Given the description of an element on the screen output the (x, y) to click on. 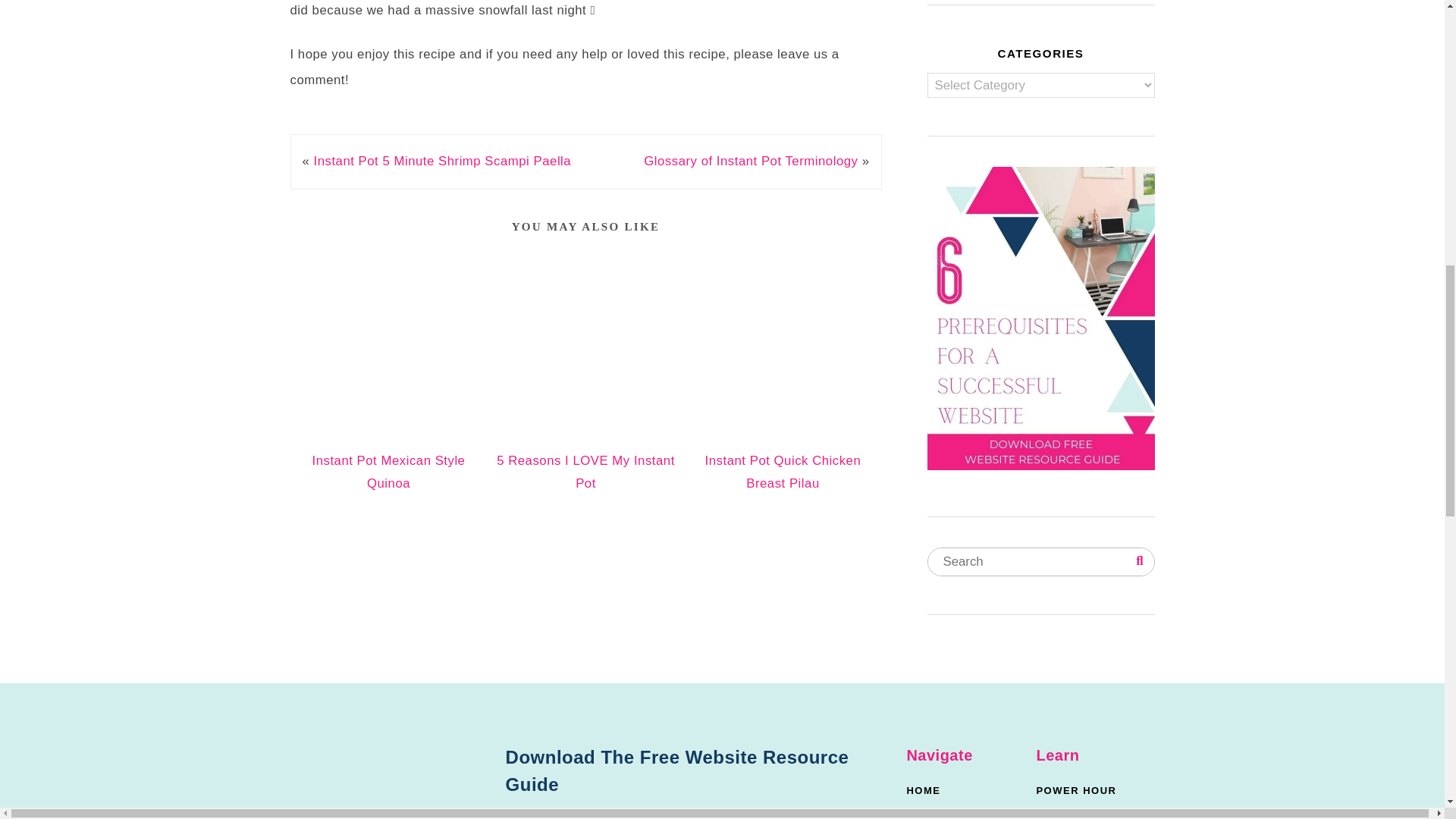
Instant Pot 5 Minute Shrimp Scampi Paella (443, 160)
Instant Pot Quick Chicken Breast Pilau (782, 471)
Instant Pot Mexican Style Quinoa (389, 471)
HOME (959, 790)
5 Reasons I LOVE My Instant Pot (585, 471)
Glossary of Instant Pot Terminology (750, 160)
